Given the description of an element on the screen output the (x, y) to click on. 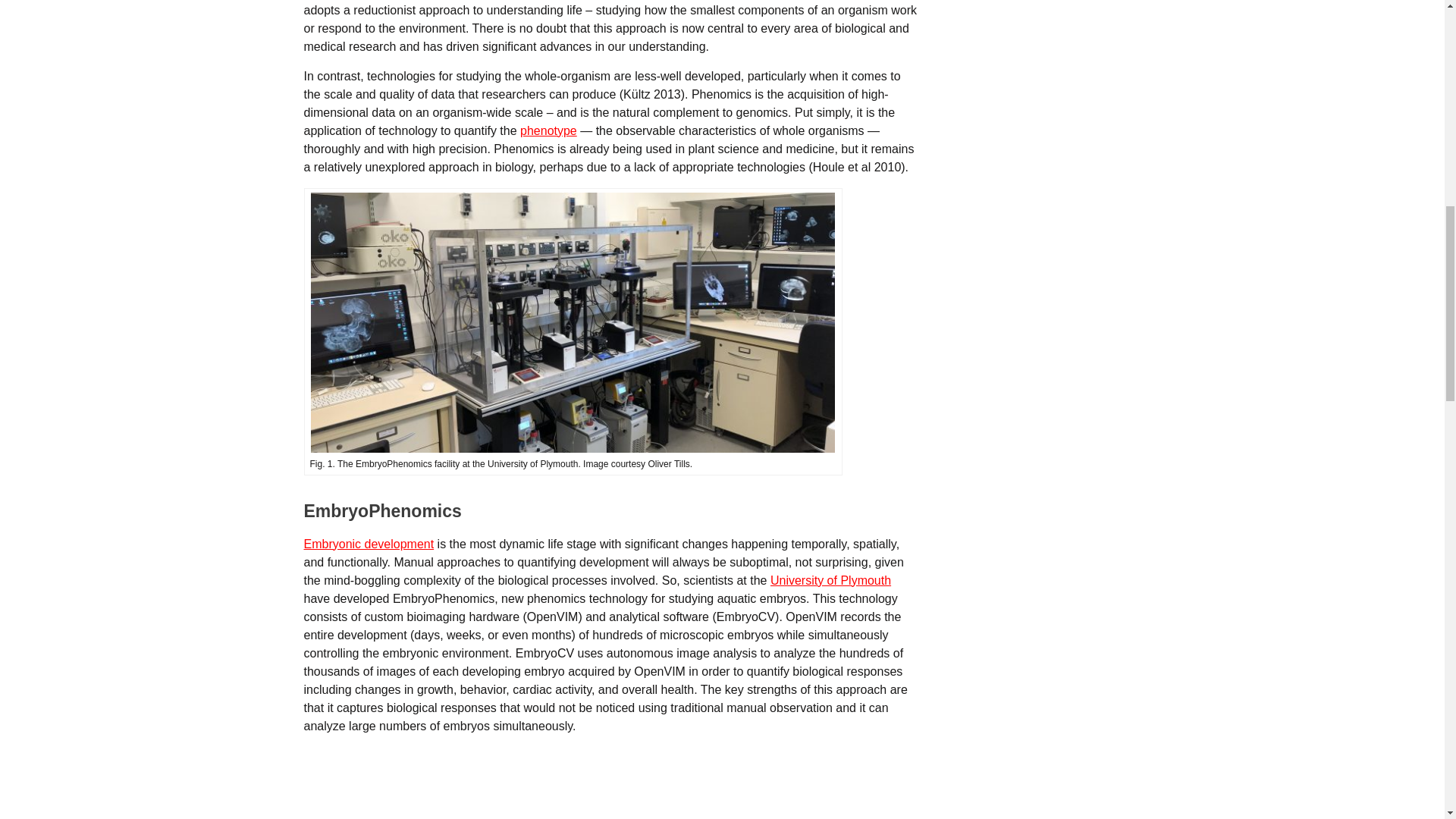
Embryonic development (367, 543)
phenotype (547, 130)
University of Plymouth (830, 580)
